Given the description of an element on the screen output the (x, y) to click on. 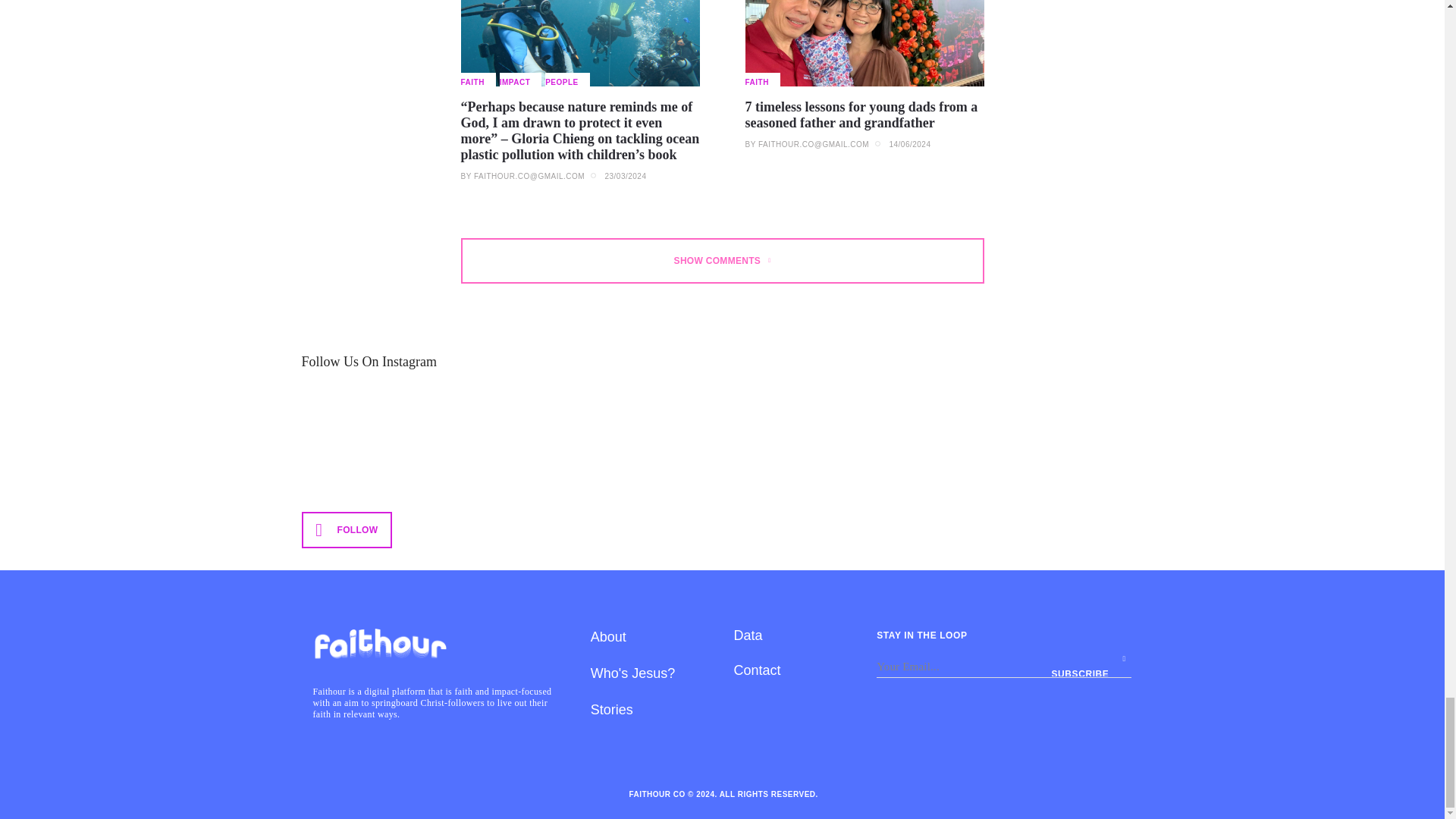
Subscribe (1091, 665)
